Given the description of an element on the screen output the (x, y) to click on. 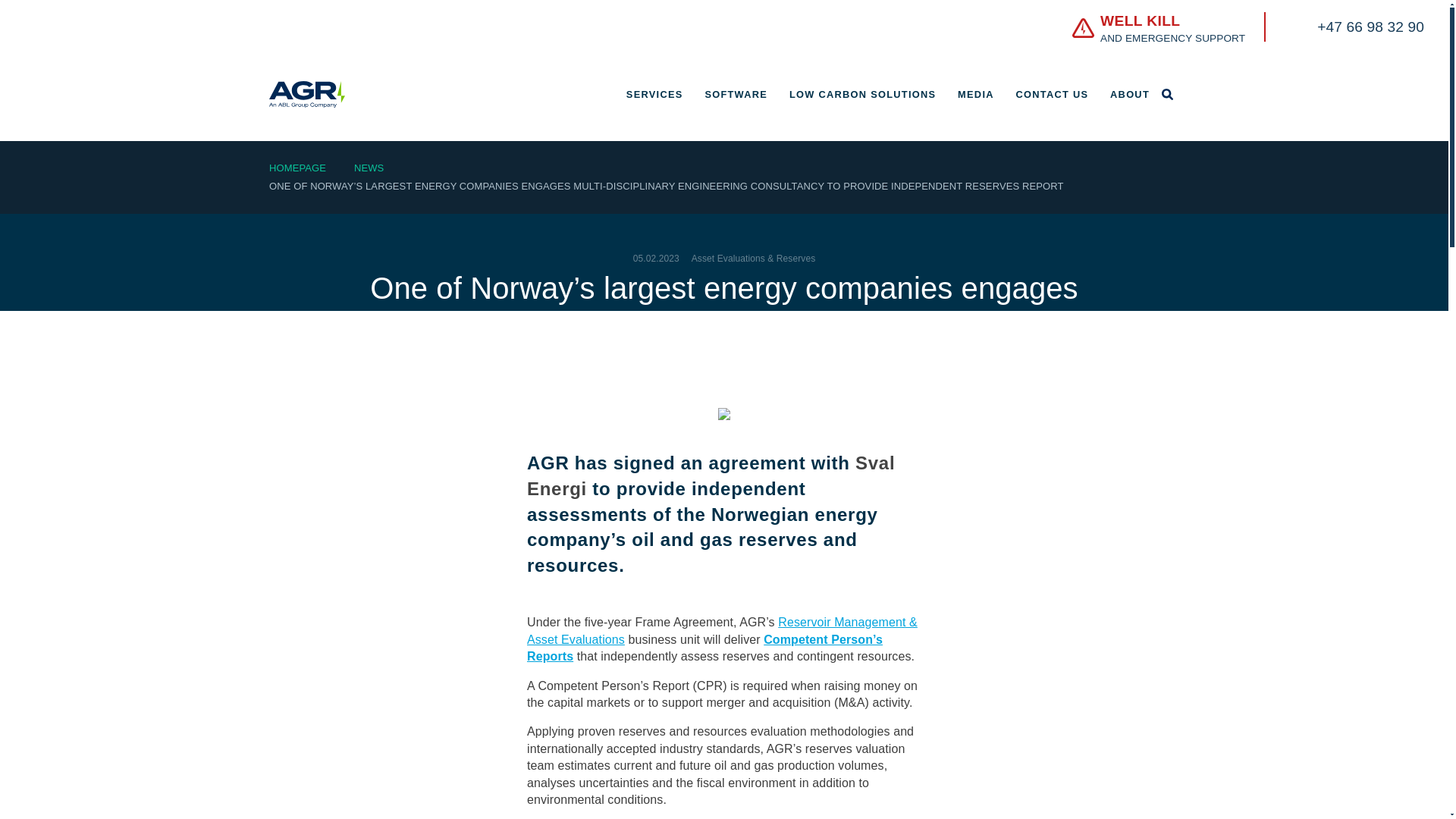
SERVICES (654, 94)
Homepage (1247, 29)
CONTACT US (297, 167)
News (1052, 94)
ABOUT (368, 167)
SOFTWARE (1129, 94)
LOW CARBON SOLUTIONS (735, 94)
MEDIA (862, 94)
